Given the description of an element on the screen output the (x, y) to click on. 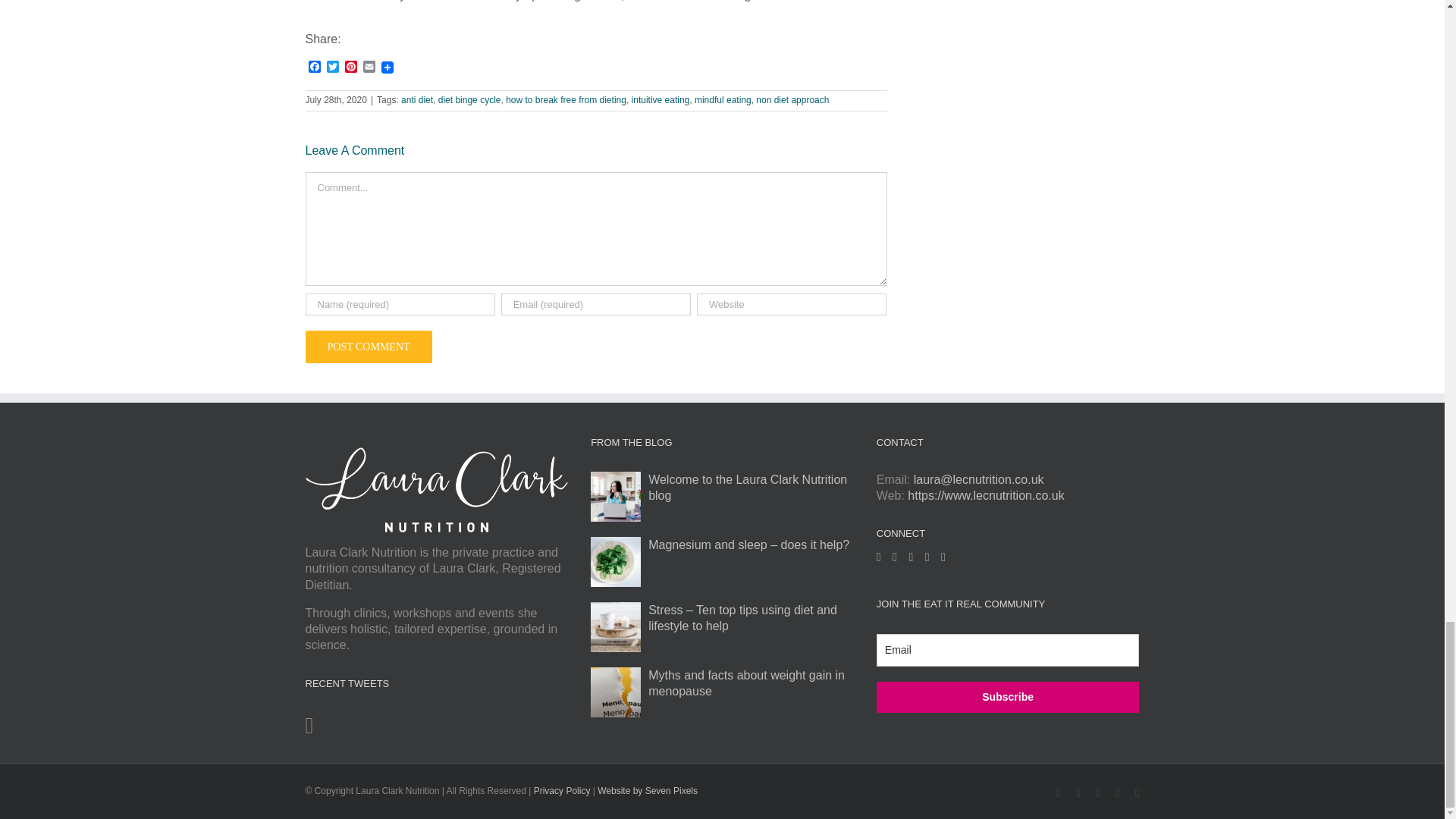
Email (368, 67)
Post Comment (367, 346)
Pinterest (349, 67)
Facebook (313, 67)
Twitter (331, 67)
